Given the description of an element on the screen output the (x, y) to click on. 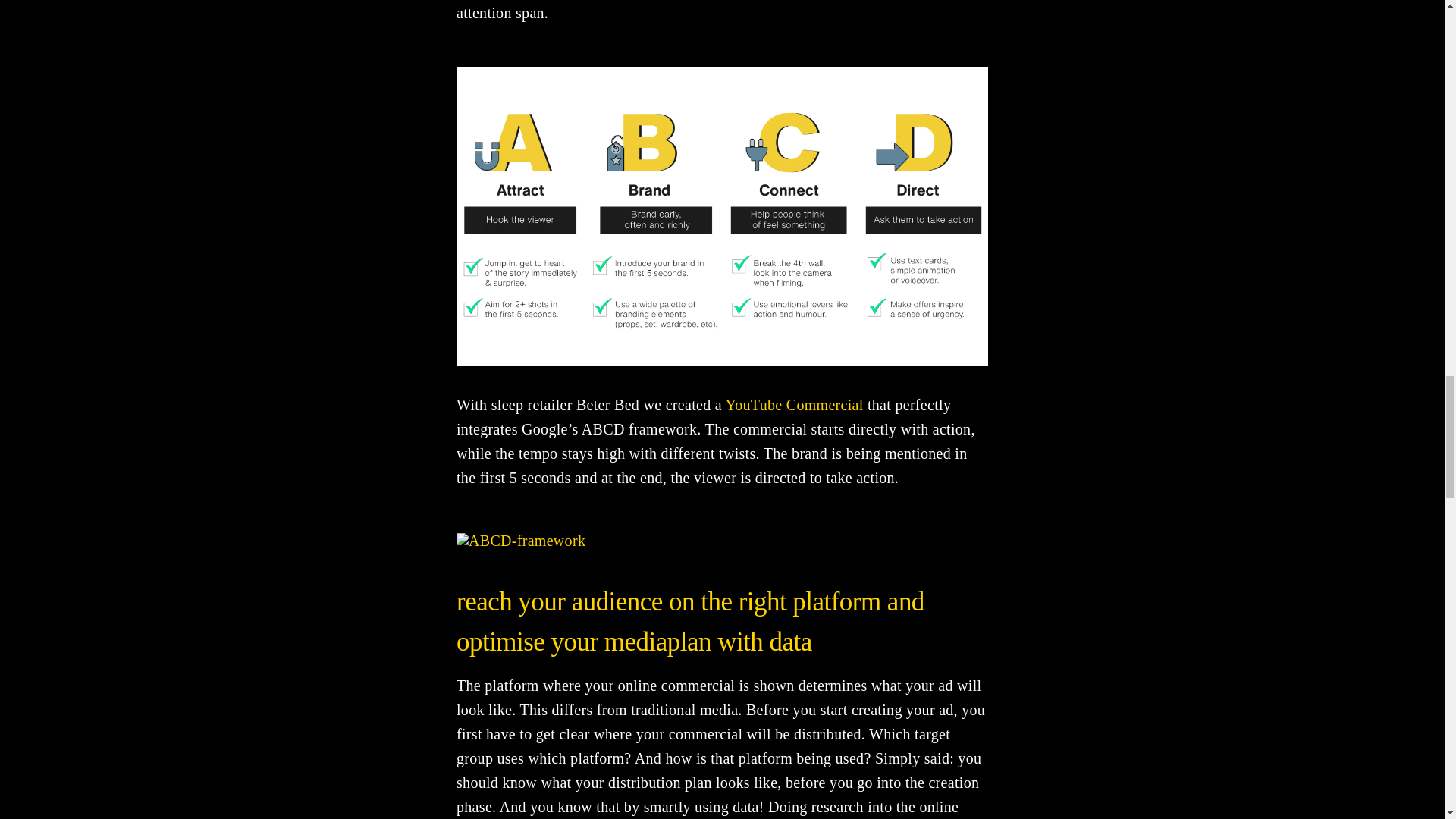
YouTube Commercial (794, 405)
